Given the description of an element on the screen output the (x, y) to click on. 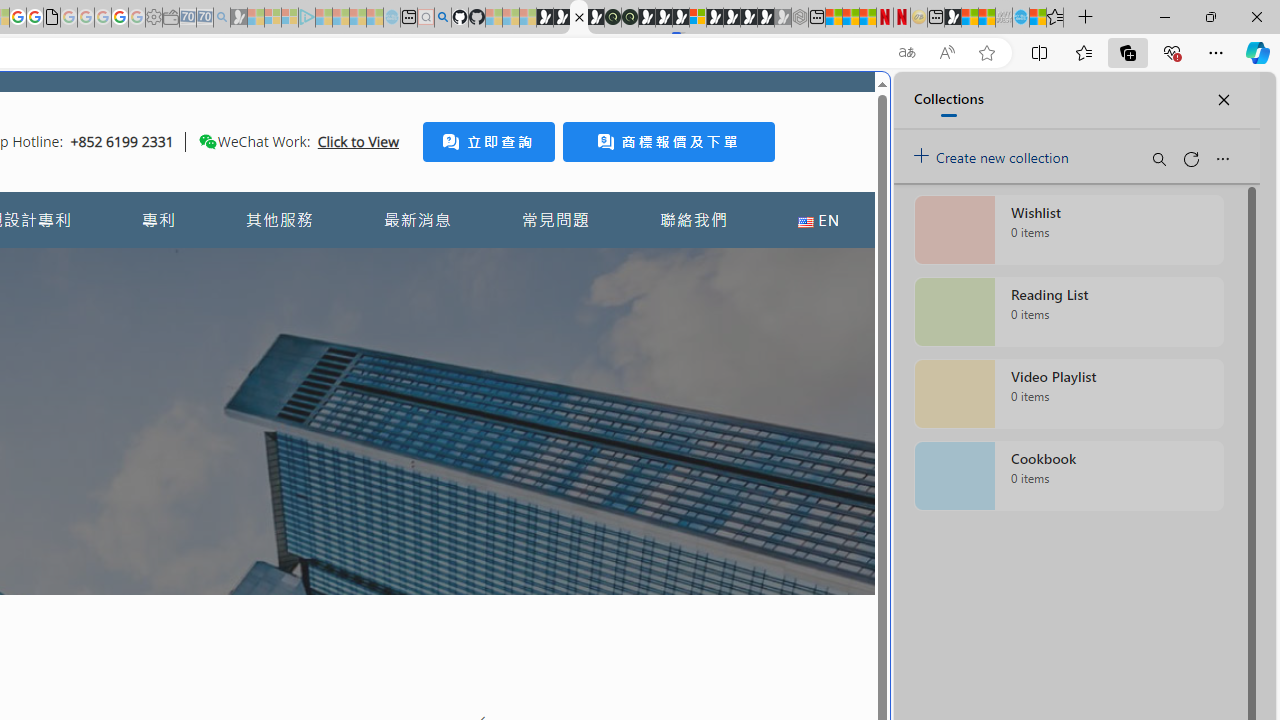
Play Cave FRVR in your browser | Games from Microsoft Start (663, 17)
Search or enter web address (343, 191)
Class: desktop (207, 141)
